Given the description of an element on the screen output the (x, y) to click on. 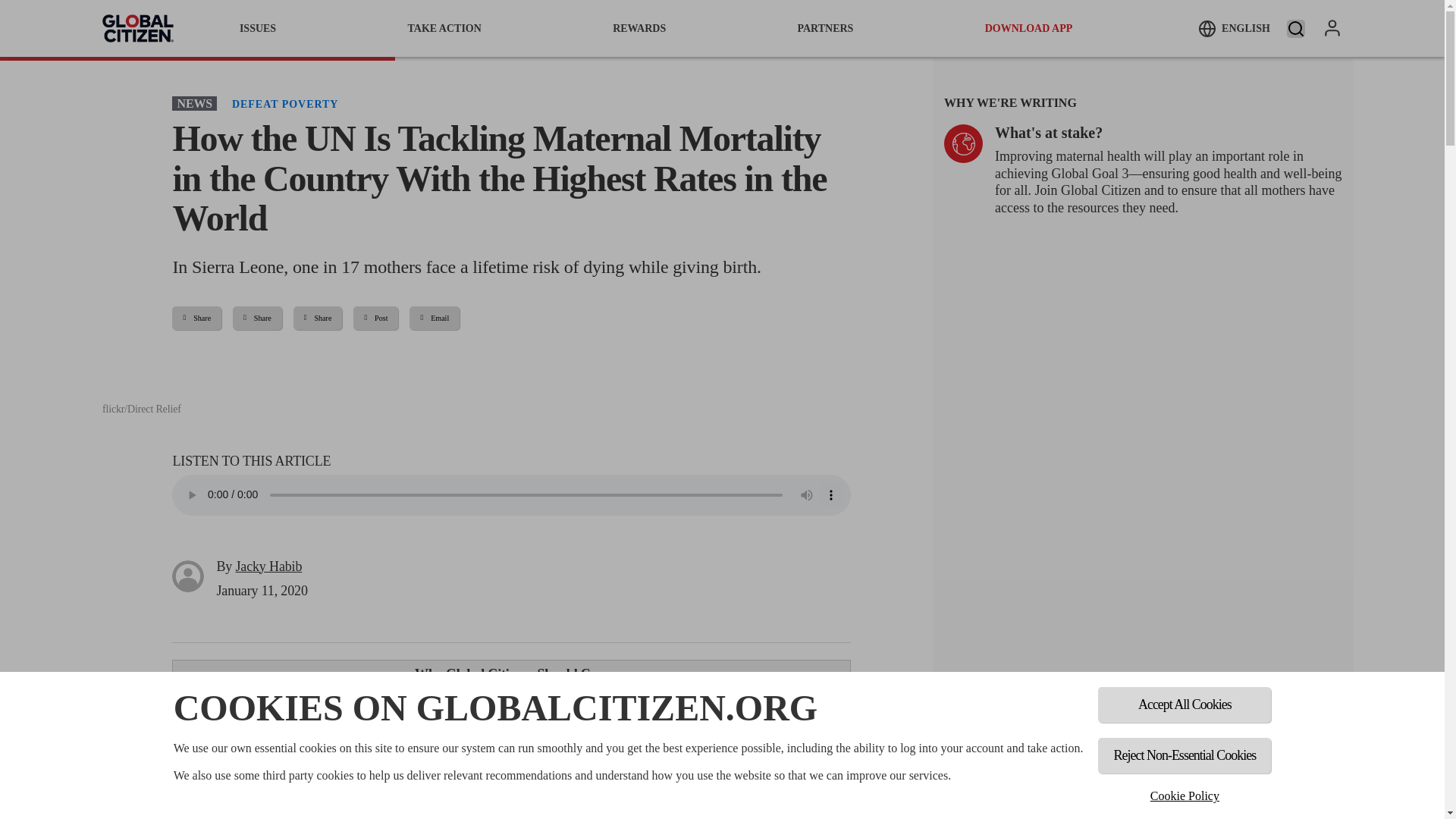
DOWNLOAD APP (1029, 28)
ISSUES (257, 28)
PARTNERS (825, 28)
ENGLISH (1233, 28)
Share (196, 318)
TAKE ACTION (444, 28)
REWARDS (639, 28)
Defeat Poverty (284, 103)
DEFEAT POVERTY (284, 103)
